Given the description of an element on the screen output the (x, y) to click on. 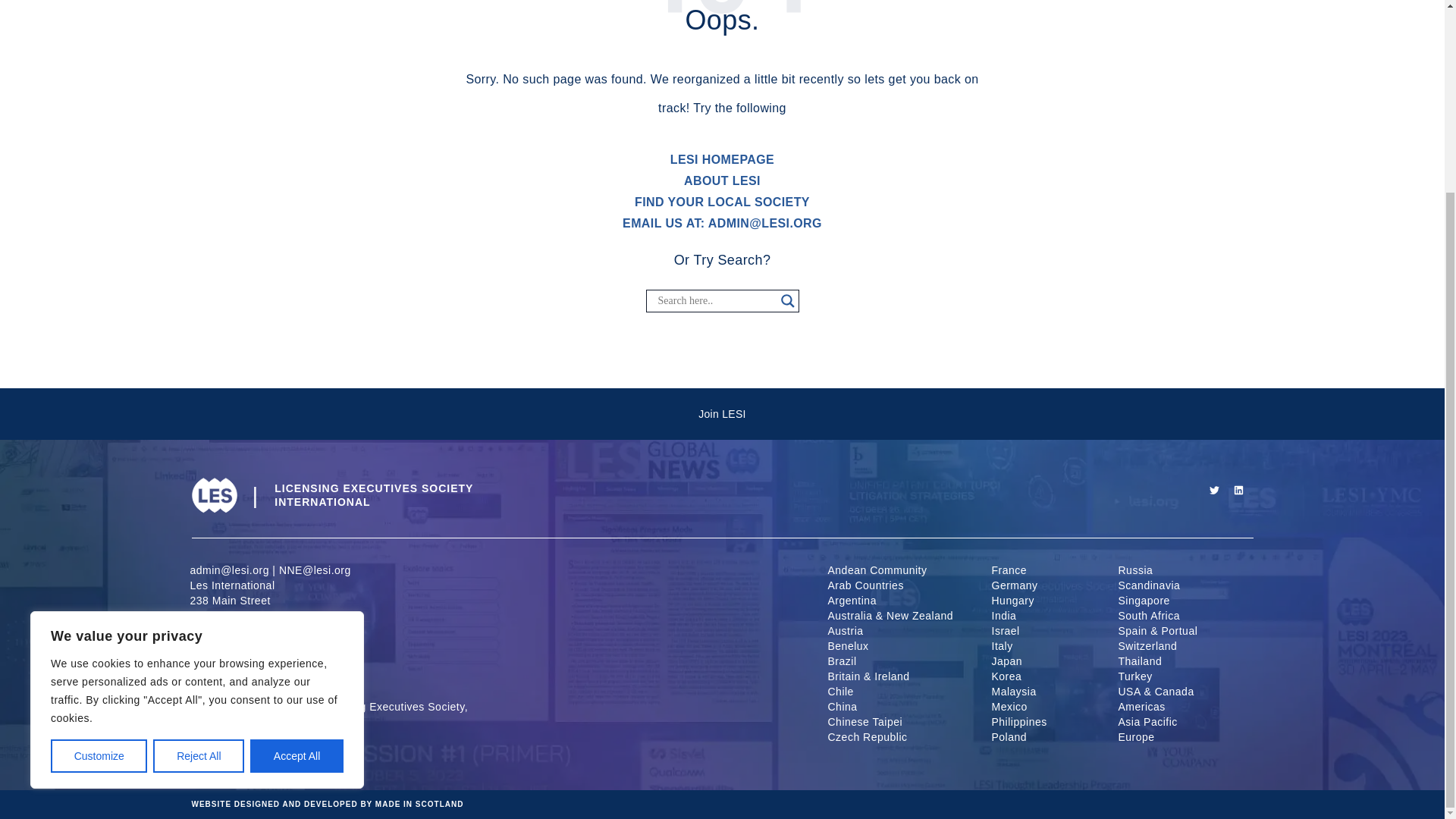
Accept All (296, 514)
Reject All (198, 514)
Customize (98, 514)
